Given the description of an element on the screen output the (x, y) to click on. 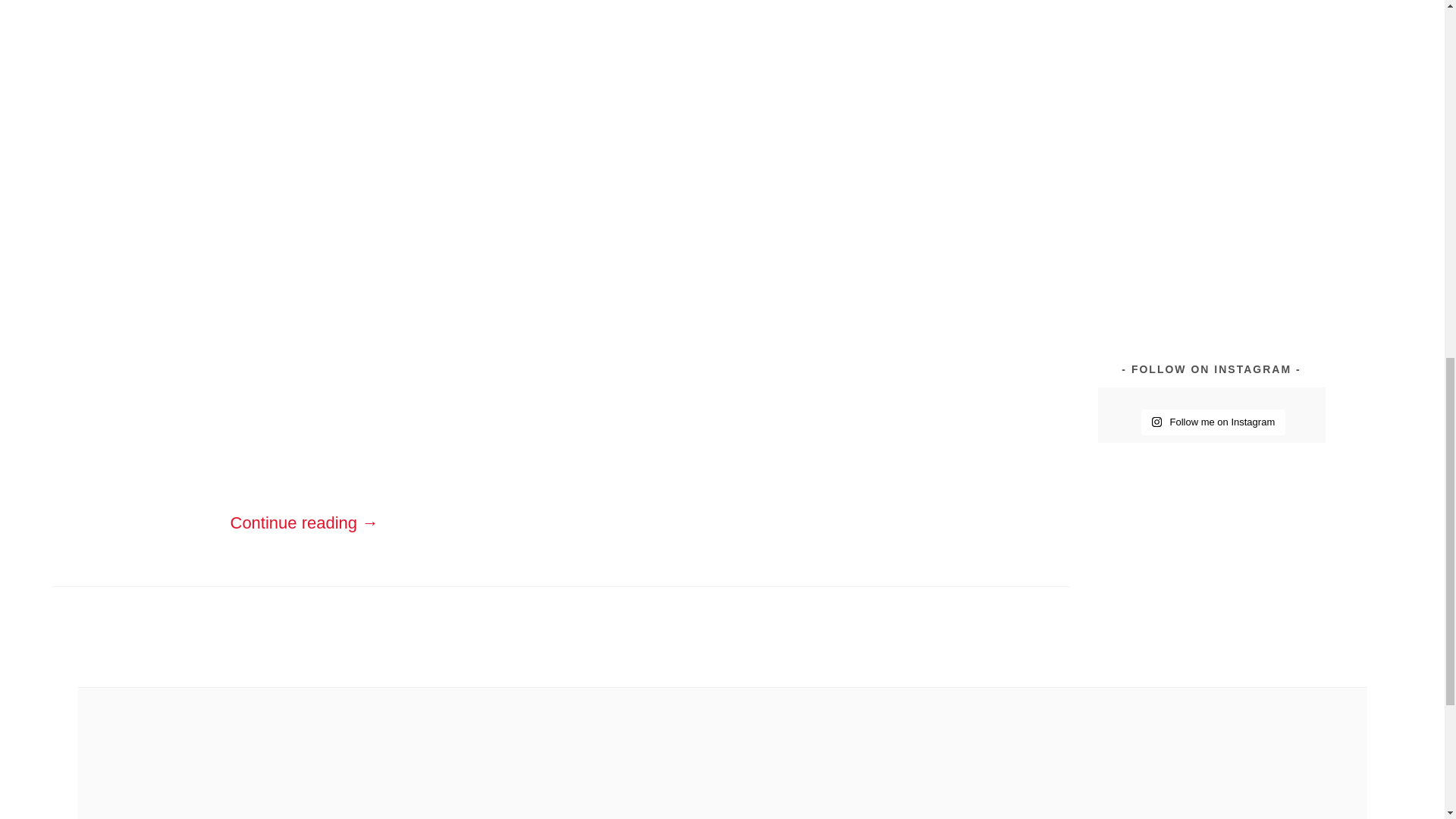
Sew Pajama Pants from Vintage Sheets (1268, 30)
Follow me on Instagram (1213, 421)
Southwest Salad with 2-Ingredient Southwest Ranch Dressing (1267, 111)
